Given the description of an element on the screen output the (x, y) to click on. 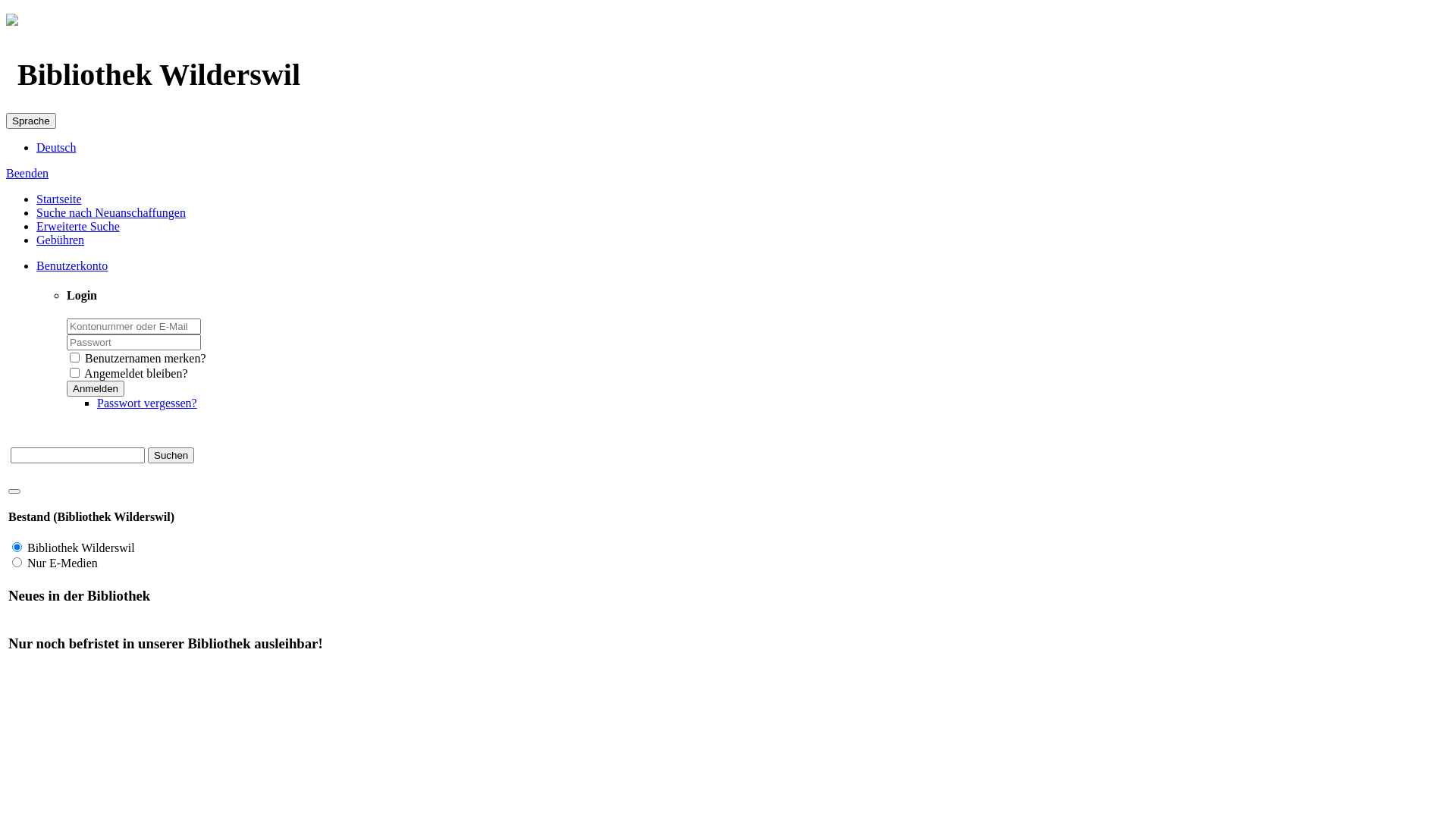
Suchen Element type: text (170, 455)
Beenden Element type: text (27, 172)
Suche nach Neuanschaffungen Element type: text (110, 212)
Erweiterte Suche Element type: text (77, 225)
Passwort vergessen? Element type: text (147, 402)
Deutsch Element type: text (55, 147)
Sprache Element type: text (31, 120)
Benutzerkonto Element type: text (71, 265)
Anmelden Element type: text (95, 388)
Startseite Element type: text (58, 198)
